Given the description of an element on the screen output the (x, y) to click on. 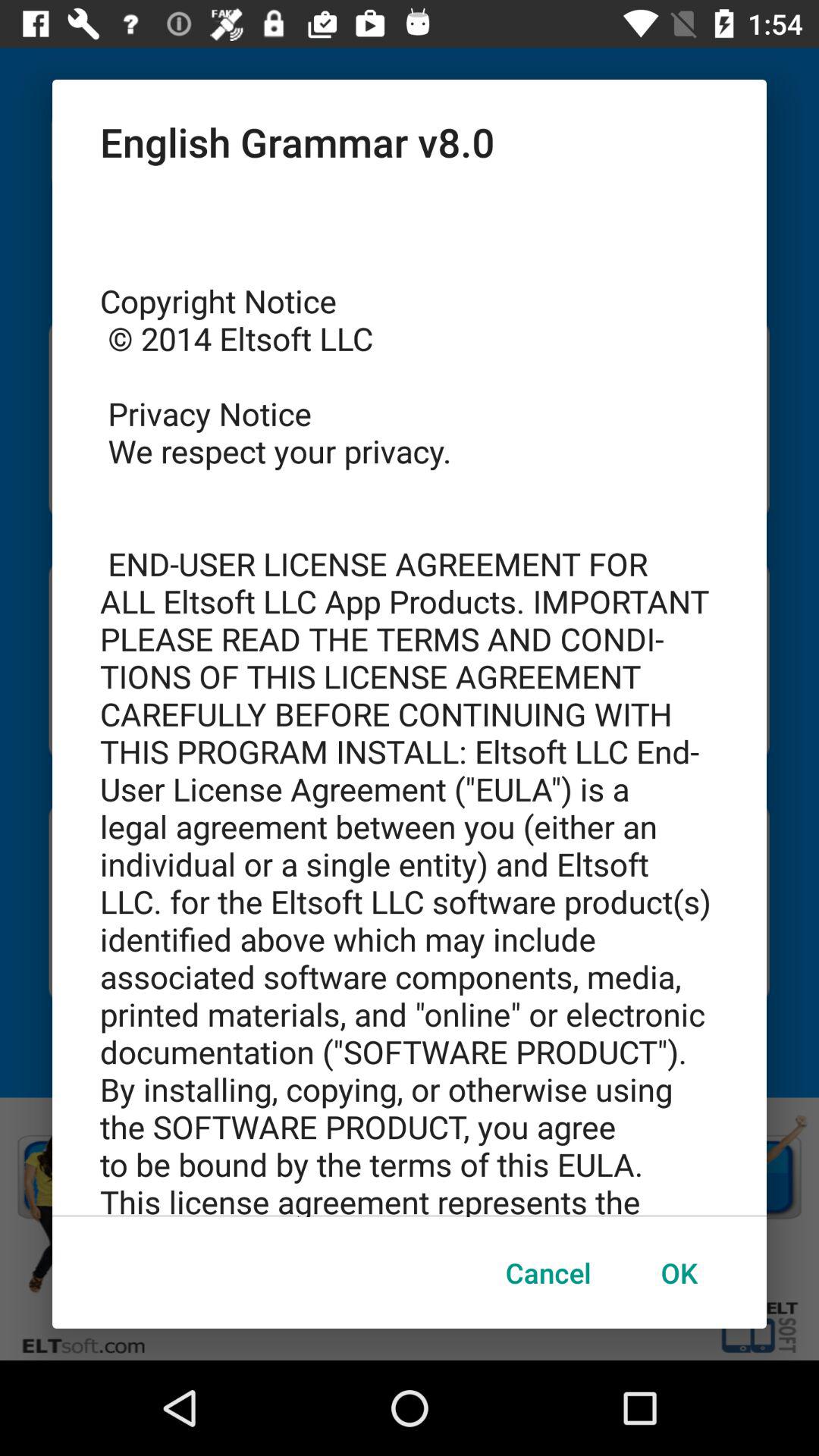
select the icon next to the ok (548, 1272)
